Given the description of an element on the screen output the (x, y) to click on. 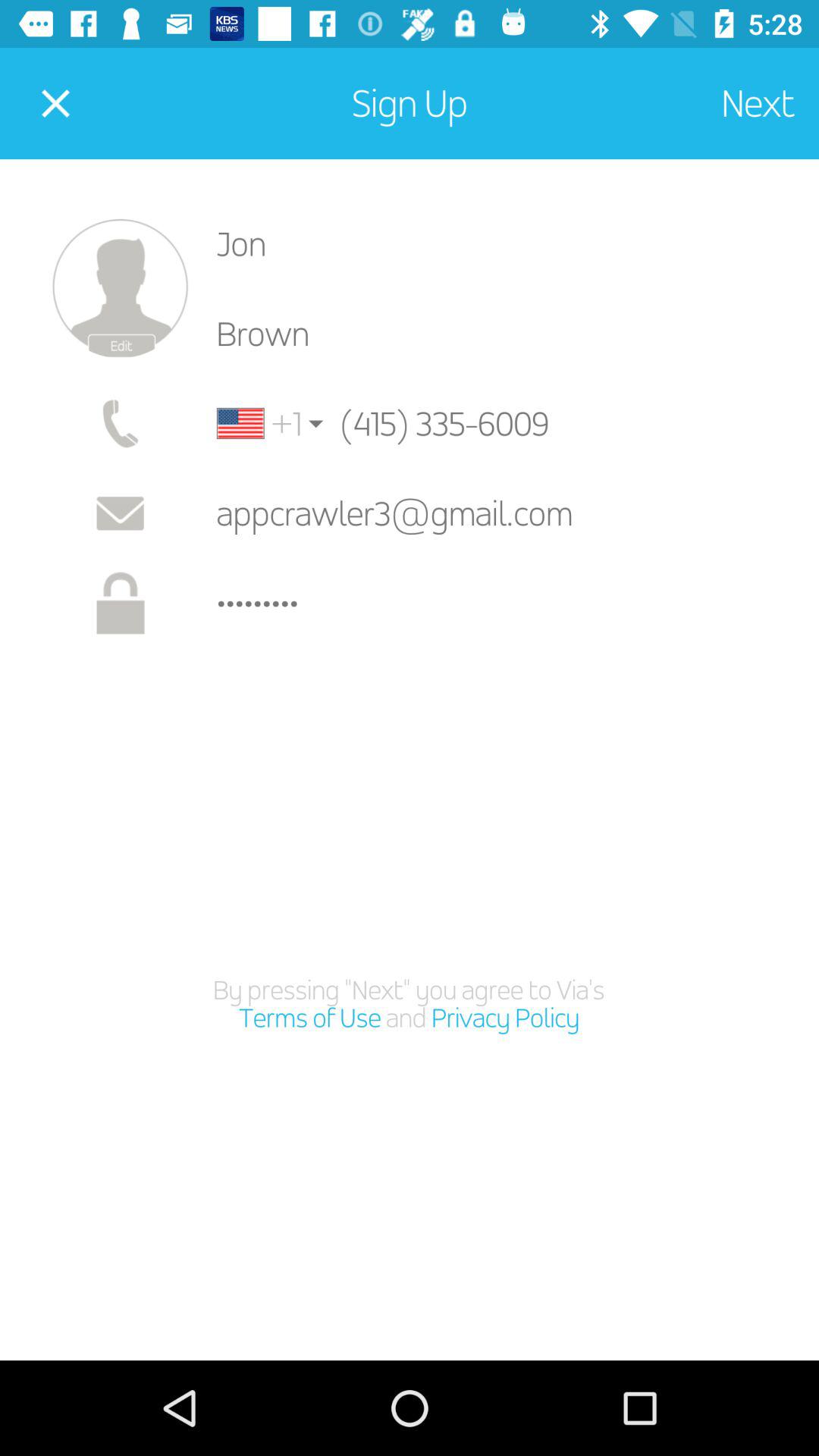
choose the icon above the crowd3116 icon (505, 513)
